Given the description of an element on the screen output the (x, y) to click on. 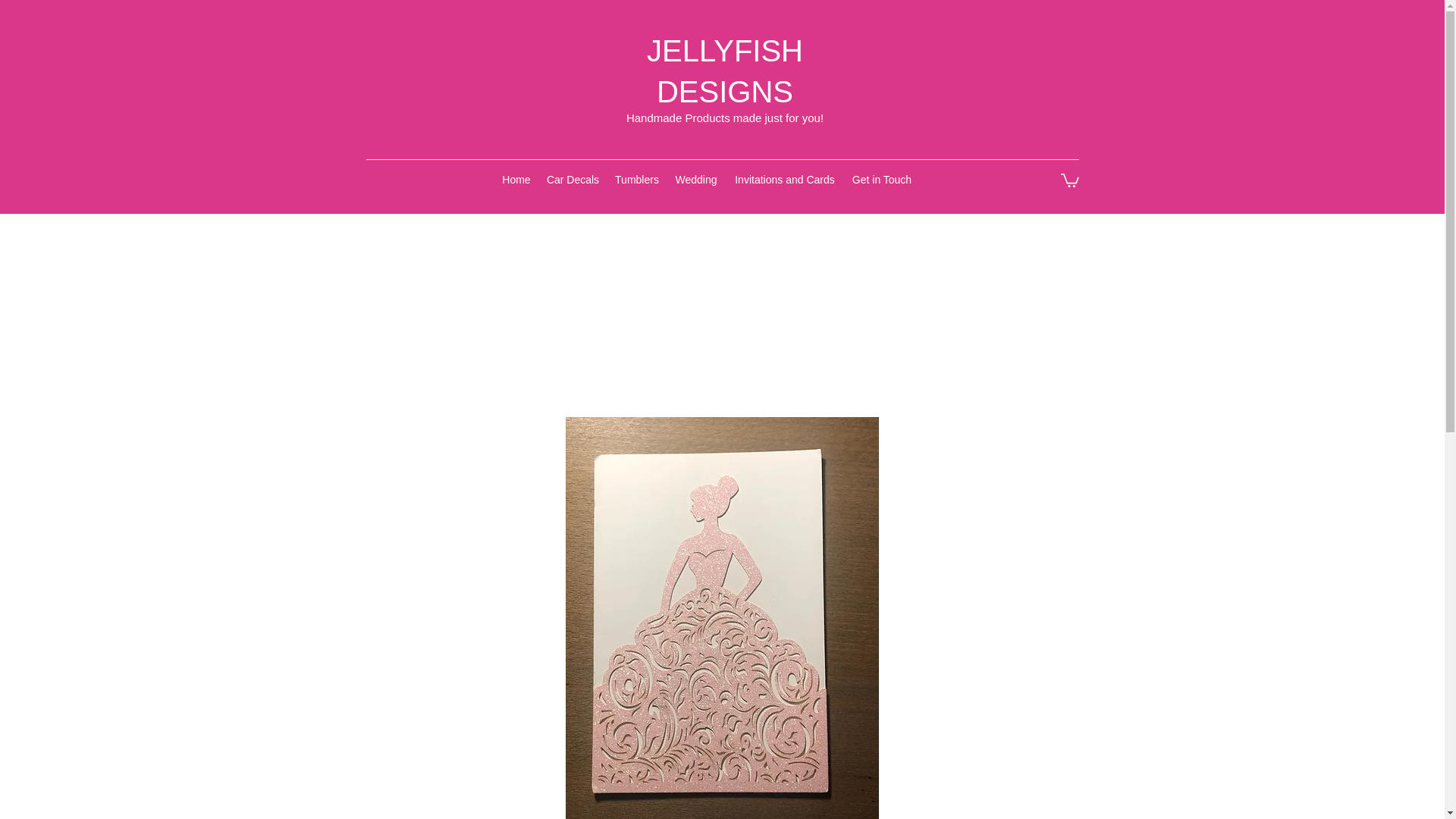
Home (516, 179)
Wedding (695, 179)
Invitations and Cards (784, 179)
Get in Touch (882, 179)
Car Decals (572, 179)
JELLYFISH DESIGNS (724, 71)
Tumblers (636, 179)
